Given the description of an element on the screen output the (x, y) to click on. 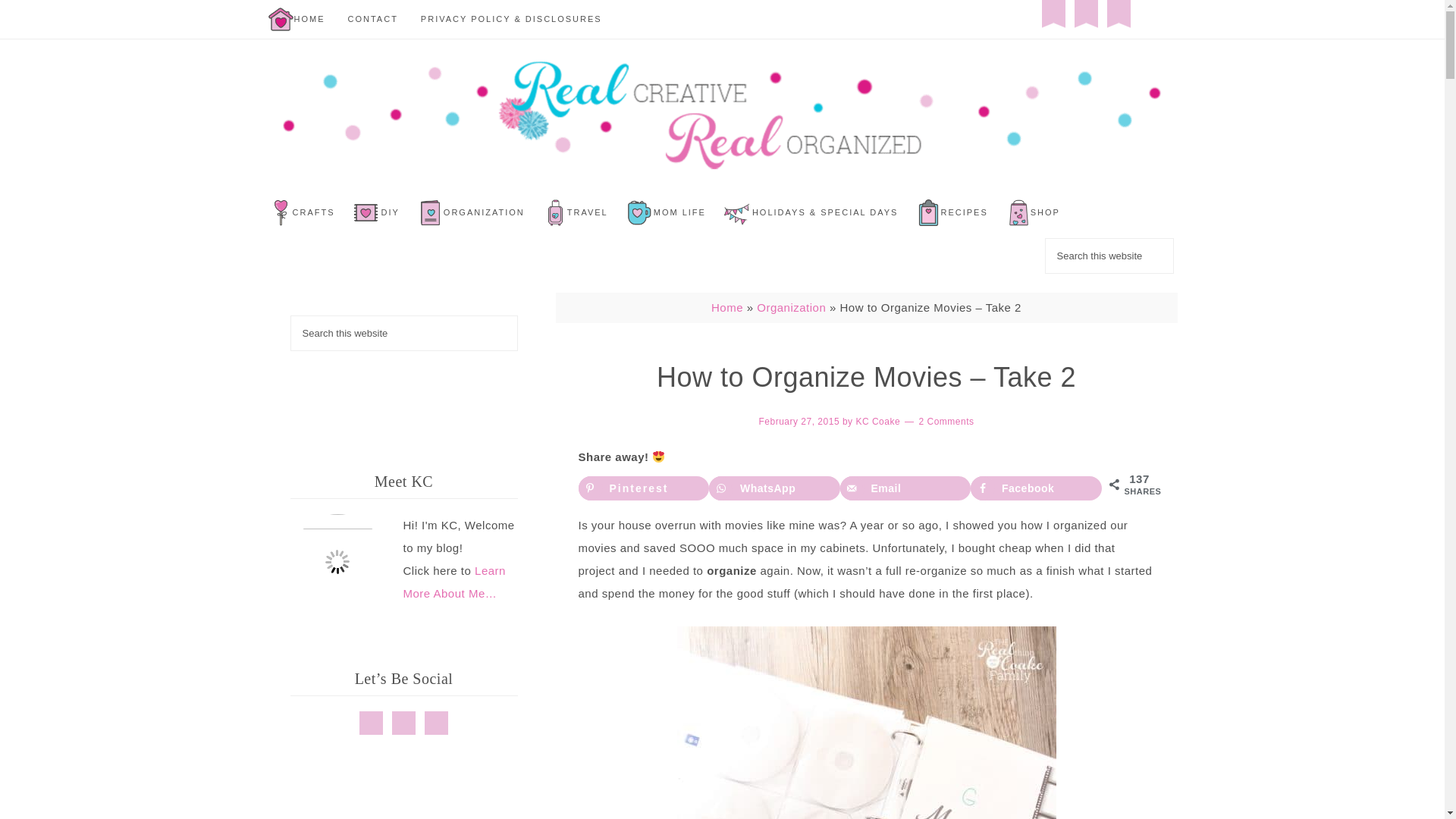
HOME (309, 19)
Organization (791, 307)
SHOP (1045, 212)
Pinterest (643, 487)
Home (726, 307)
2 Comments (946, 421)
RECIPES (963, 212)
DIY (390, 212)
